Given the description of an element on the screen output the (x, y) to click on. 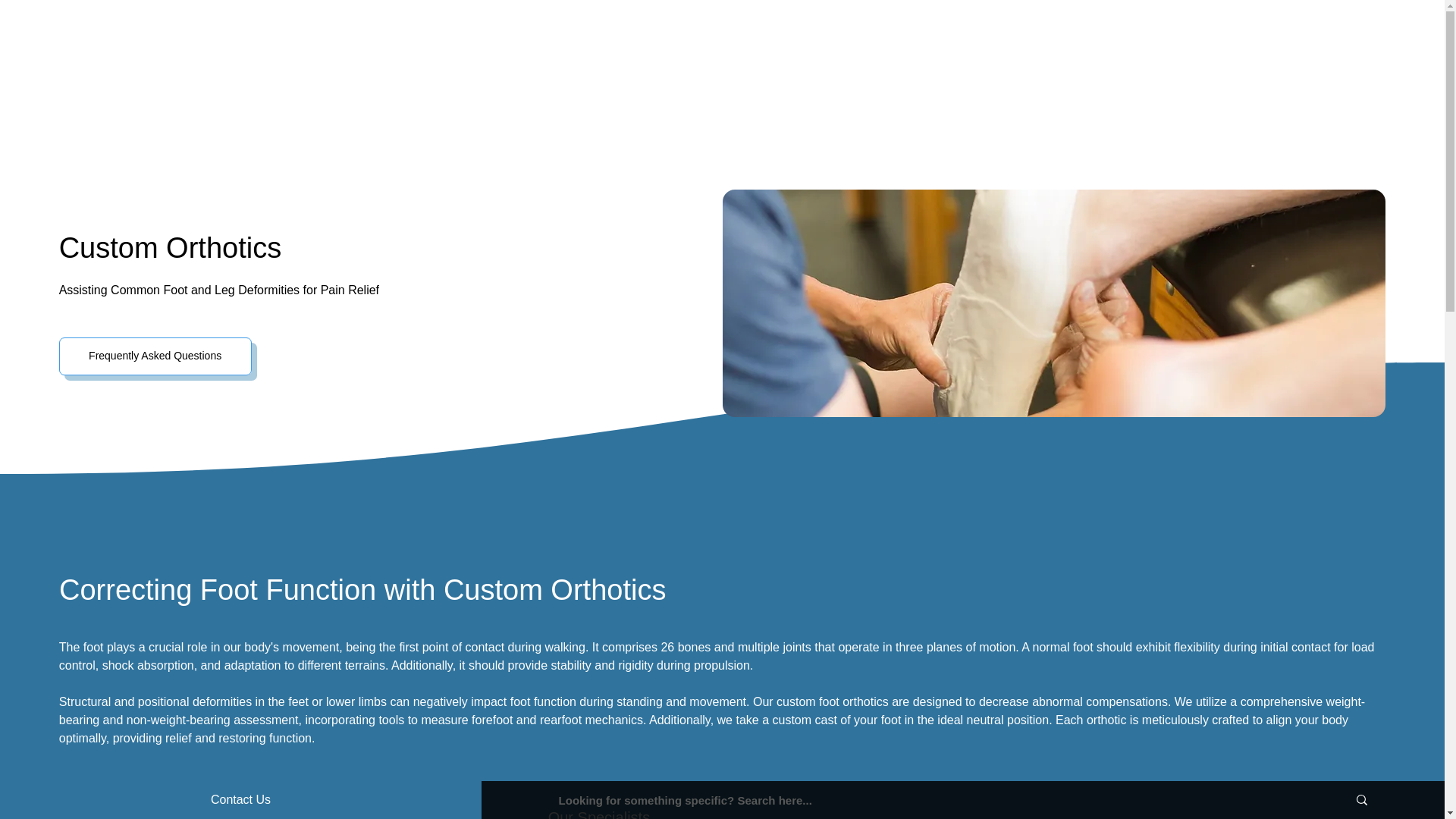
Frequently Asked Questions (155, 356)
